Given the description of an element on the screen output the (x, y) to click on. 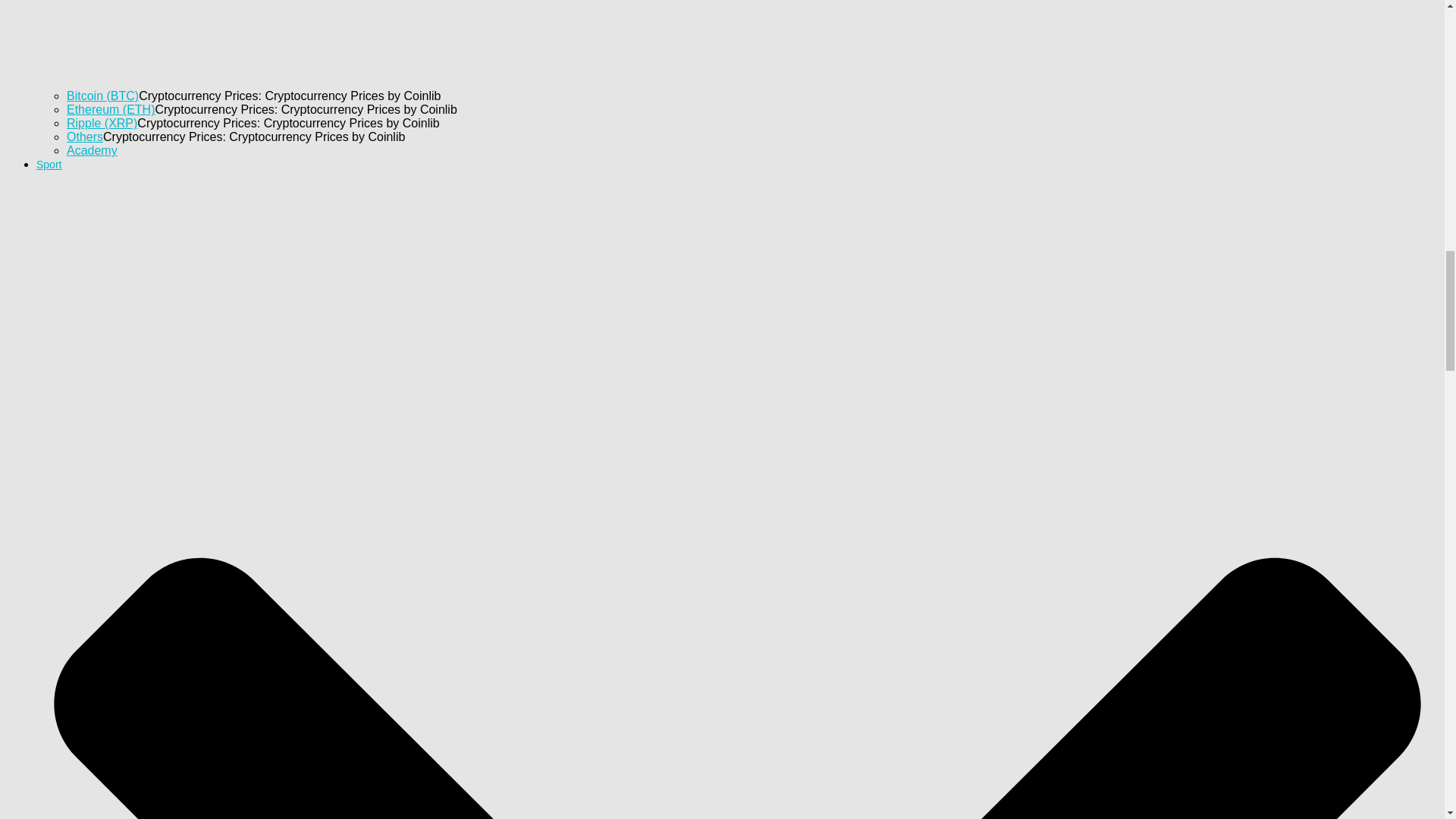
Others (84, 136)
Academy (91, 150)
Others (84, 136)
Academy (91, 150)
